Given the description of an element on the screen output the (x, y) to click on. 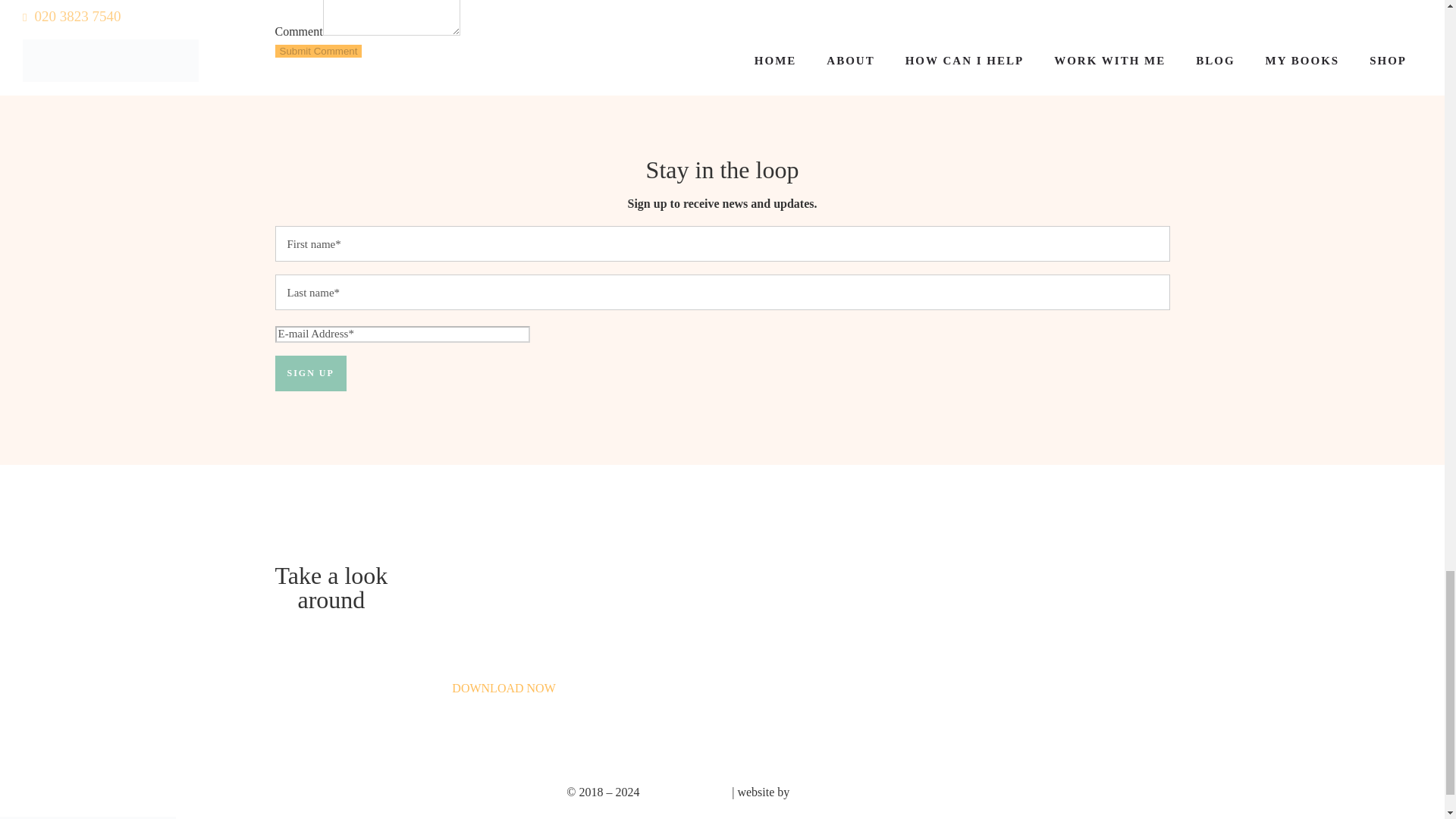
Sign up (310, 373)
Disclaimer (674, 604)
My Story (331, 663)
Sign up (310, 373)
Contact Us (330, 690)
Blog (331, 718)
Submit Comment (318, 51)
Work With Me (674, 631)
Privacy Policy (674, 577)
Home (330, 636)
